Given the description of an element on the screen output the (x, y) to click on. 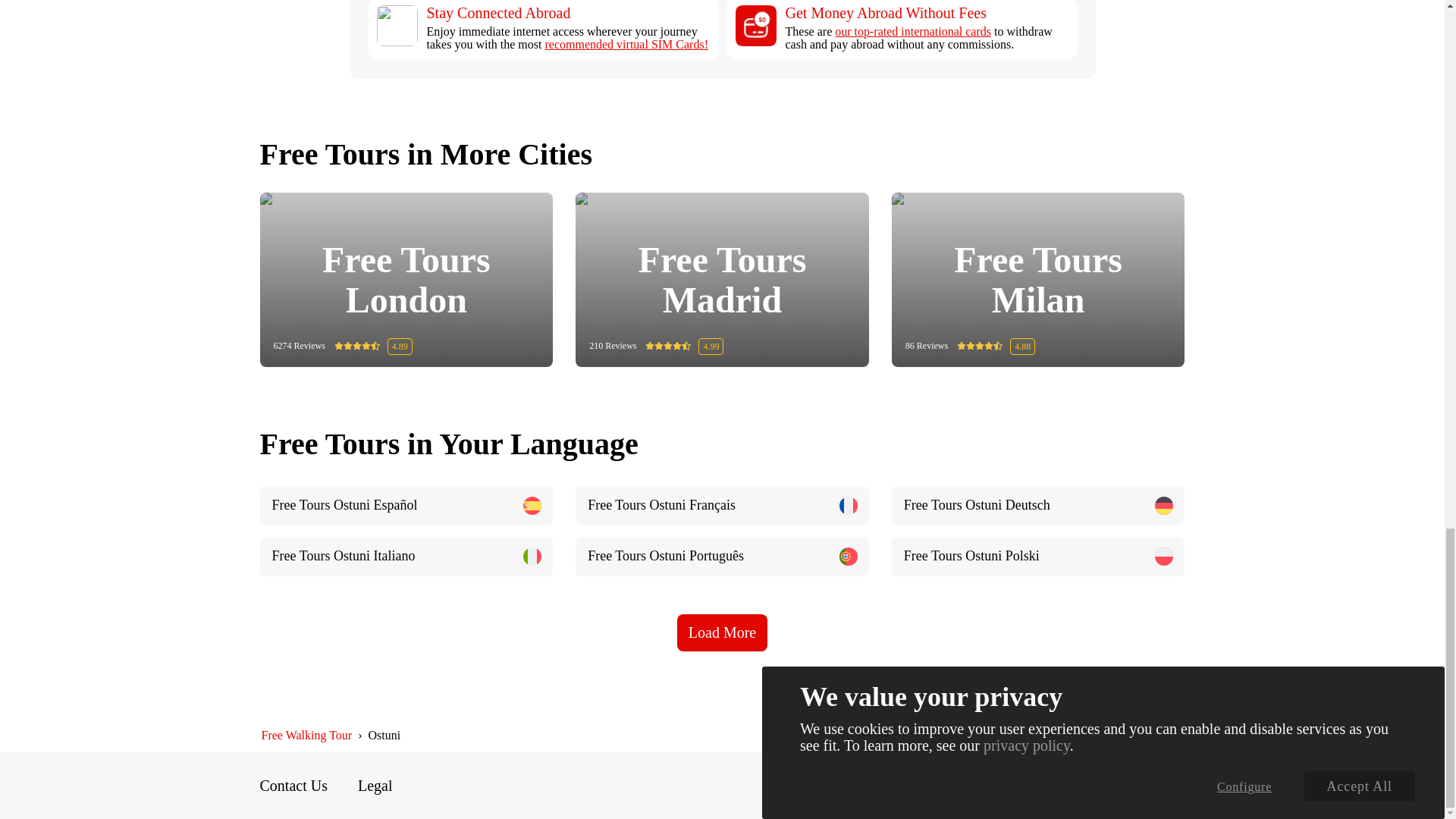
Free Tours Ostuni Italiano (406, 556)
our top-rated international cards (912, 31)
recommended virtual SIM Cards! (625, 43)
Load More (722, 632)
Free Tours Ostuni Deutsch (1038, 505)
Free Walking Tour (306, 735)
Free Tours Ostuni Polski (1038, 556)
Free Tours Milan (1038, 279)
Free Tours Madrid (722, 279)
Free Tours London (405, 279)
